Given the description of an element on the screen output the (x, y) to click on. 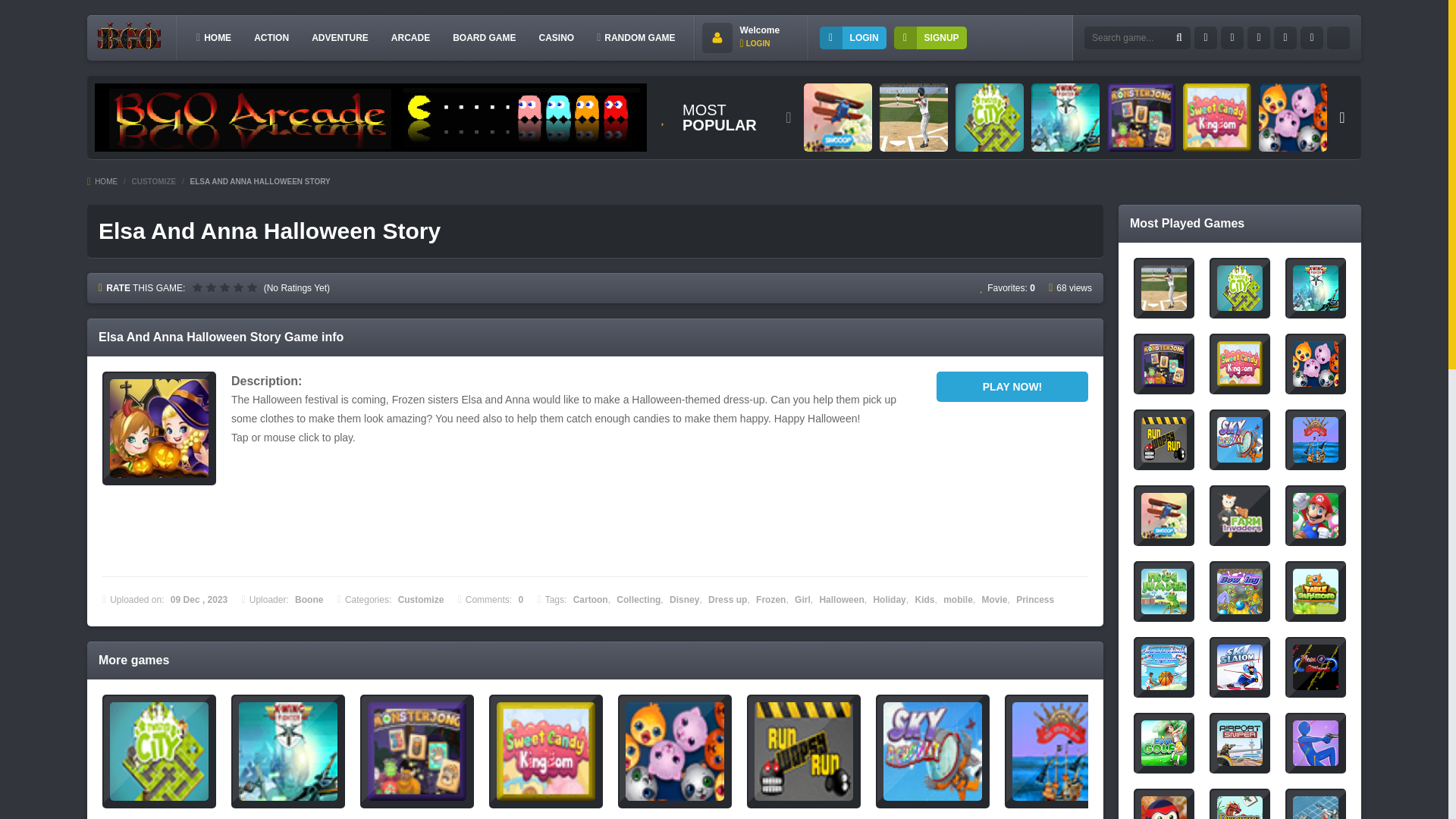
Search (1179, 37)
Feed (1311, 37)
Instagram (1285, 37)
RANDOM GAME (635, 37)
Youtube (1258, 37)
LOGIN (852, 37)
CASINO (555, 37)
ADVENTURE (339, 37)
BOARD GAME (483, 37)
Facebook (1205, 37)
